Given the description of an element on the screen output the (x, y) to click on. 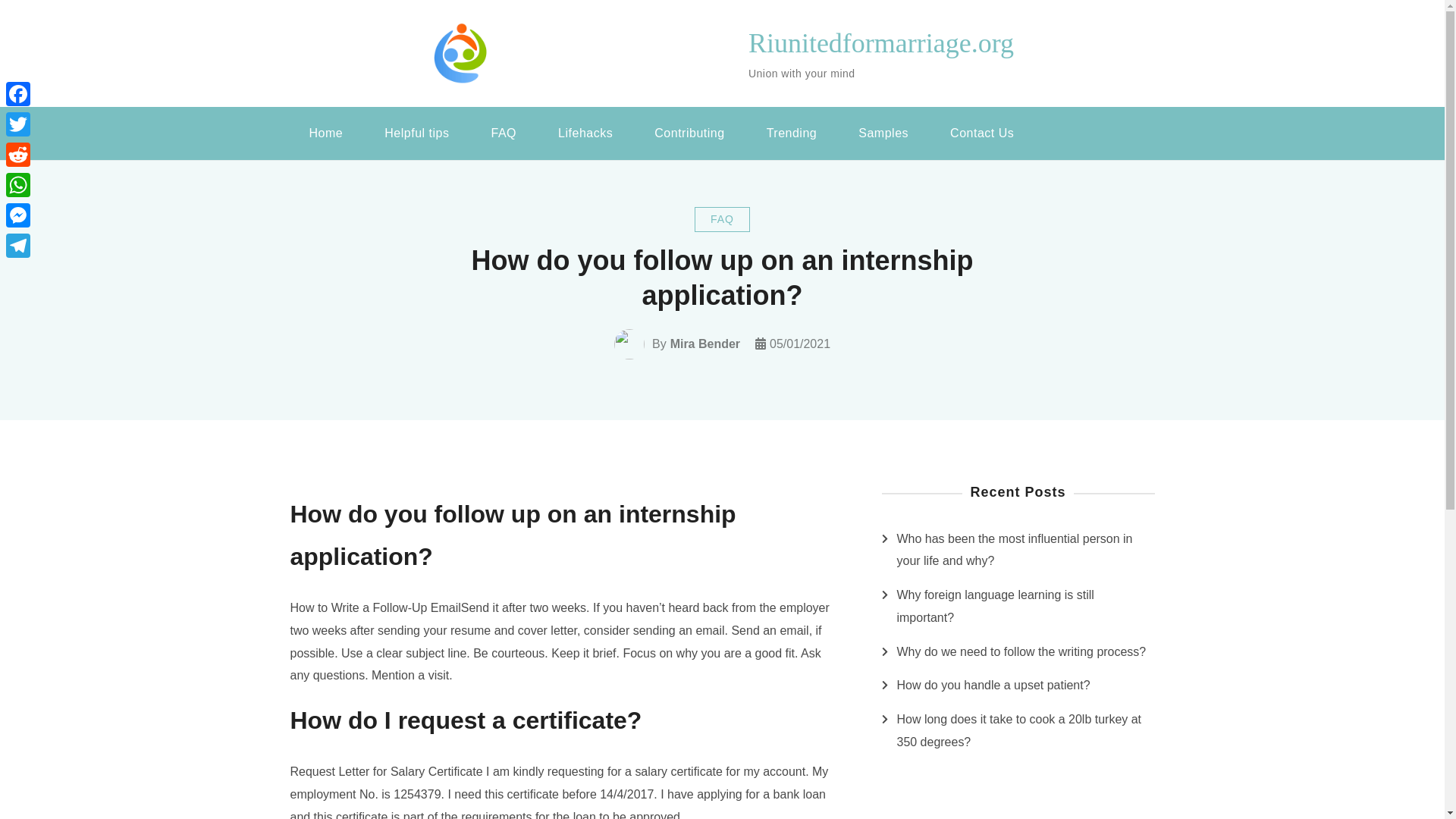
FAQ (721, 219)
Why do we need to follow the writing process? (1020, 651)
Contact Us (981, 133)
Twitter (17, 123)
Telegram (17, 245)
Trending (791, 133)
Lifehacks (584, 133)
Riunitedformarriage.org (880, 42)
Samples (883, 133)
FAQ (503, 133)
Facebook (17, 93)
Mira Bender (704, 343)
Contributing (688, 133)
Helpful tips (416, 133)
Messenger (17, 214)
